Given the description of an element on the screen output the (x, y) to click on. 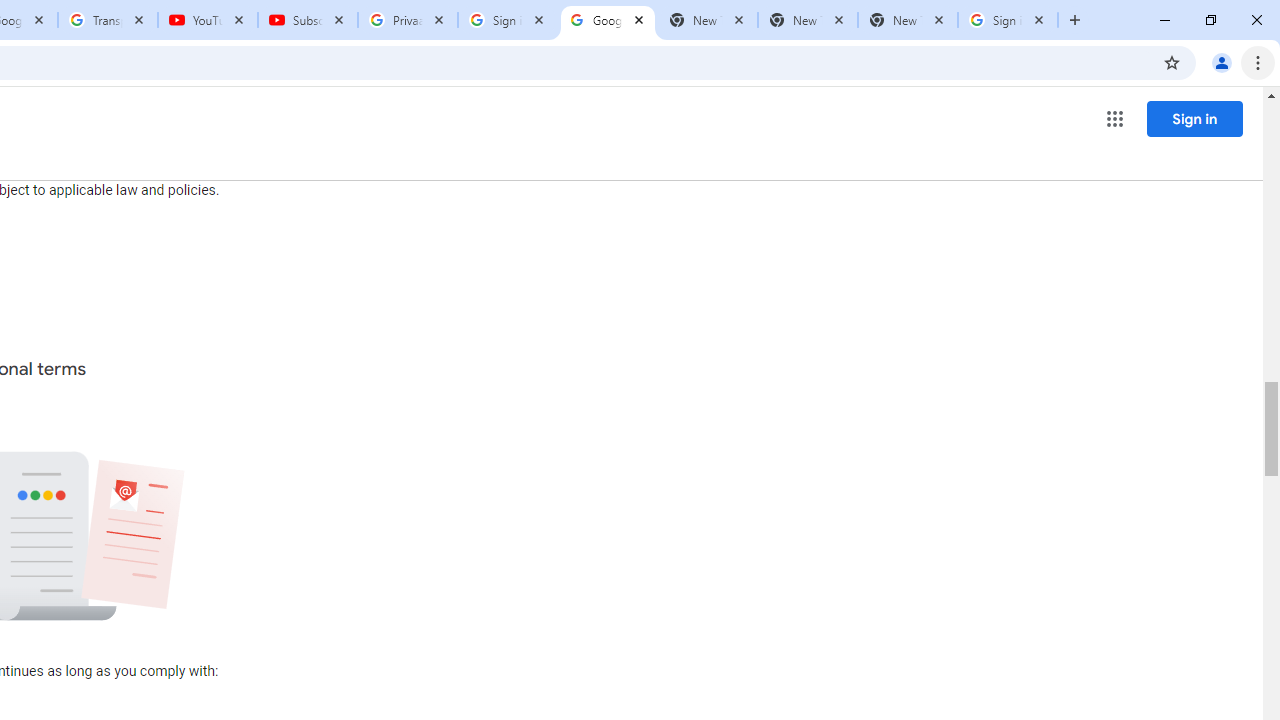
New Tab (907, 20)
Sign in - Google Accounts (1007, 20)
YouTube (207, 20)
Subscriptions - YouTube (308, 20)
Sign in - Google Accounts (508, 20)
